Given the description of an element on the screen output the (x, y) to click on. 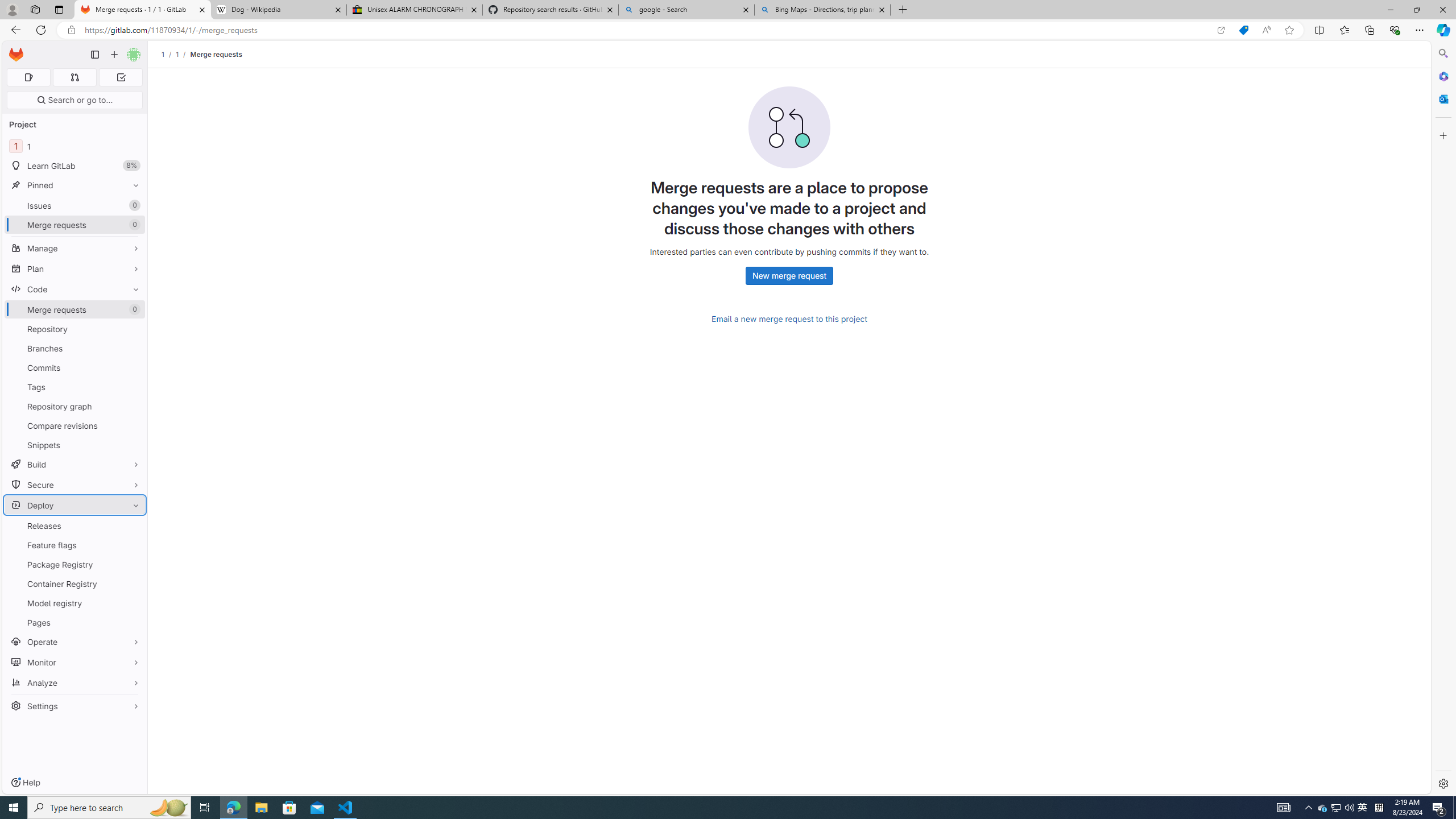
App bar (728, 29)
New merge request (789, 275)
1 (177, 53)
Package Registry (74, 564)
Container Registry (74, 583)
Pages (74, 622)
Manage (74, 248)
Plan (74, 268)
Releases (74, 525)
Primary navigation sidebar (94, 54)
Unpin Merge requests (132, 309)
Feature flags (74, 544)
